Given the description of an element on the screen output the (x, y) to click on. 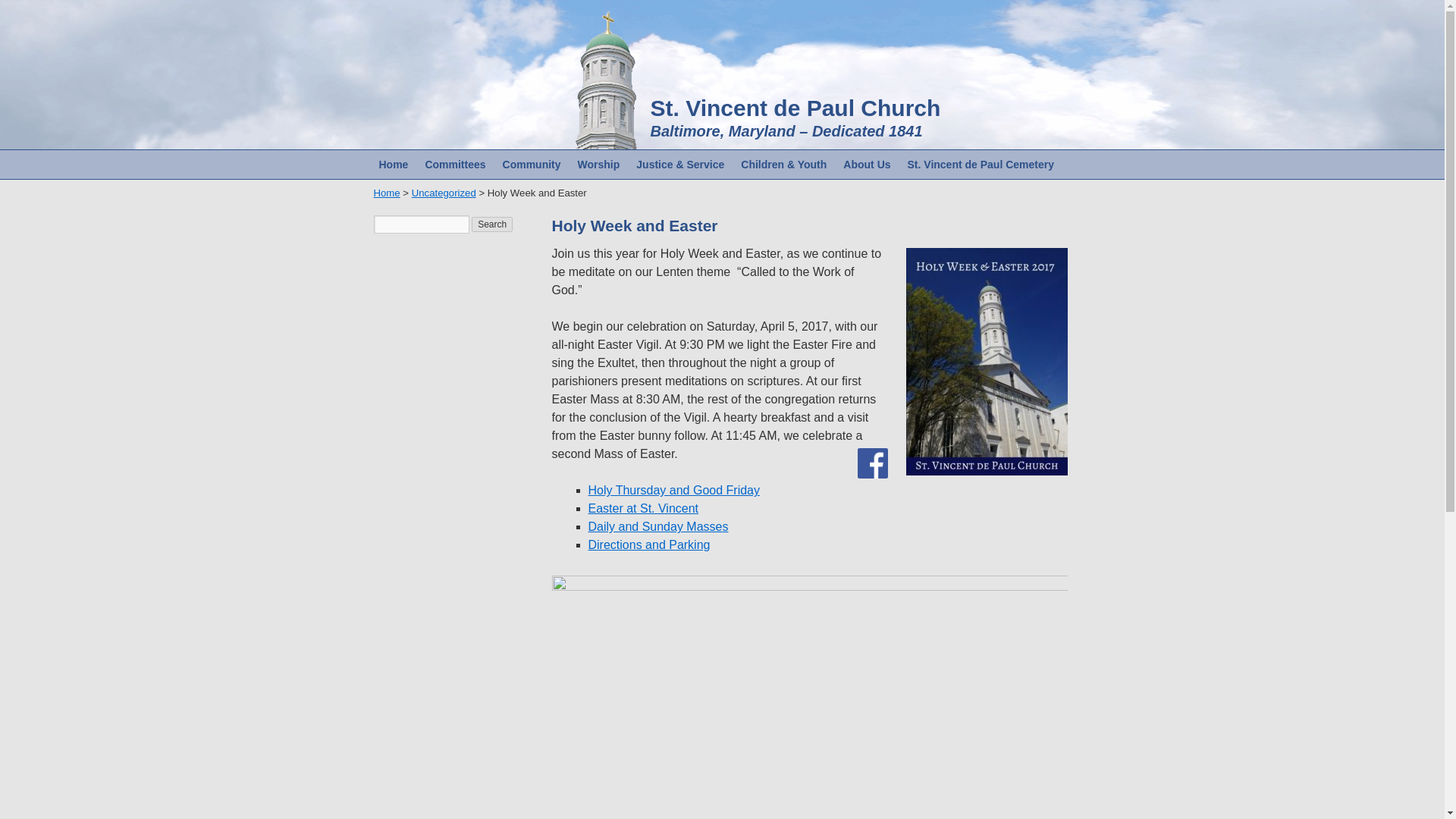
St. Vincent de Paul Church (795, 107)
Worship (598, 164)
St. Vincent de Paul Church (795, 107)
Committees (454, 164)
Search (491, 224)
Go to the Uncategorized Category archives. (444, 193)
Community (532, 164)
Go to Home. (385, 193)
Home (392, 164)
